Given the description of an element on the screen output the (x, y) to click on. 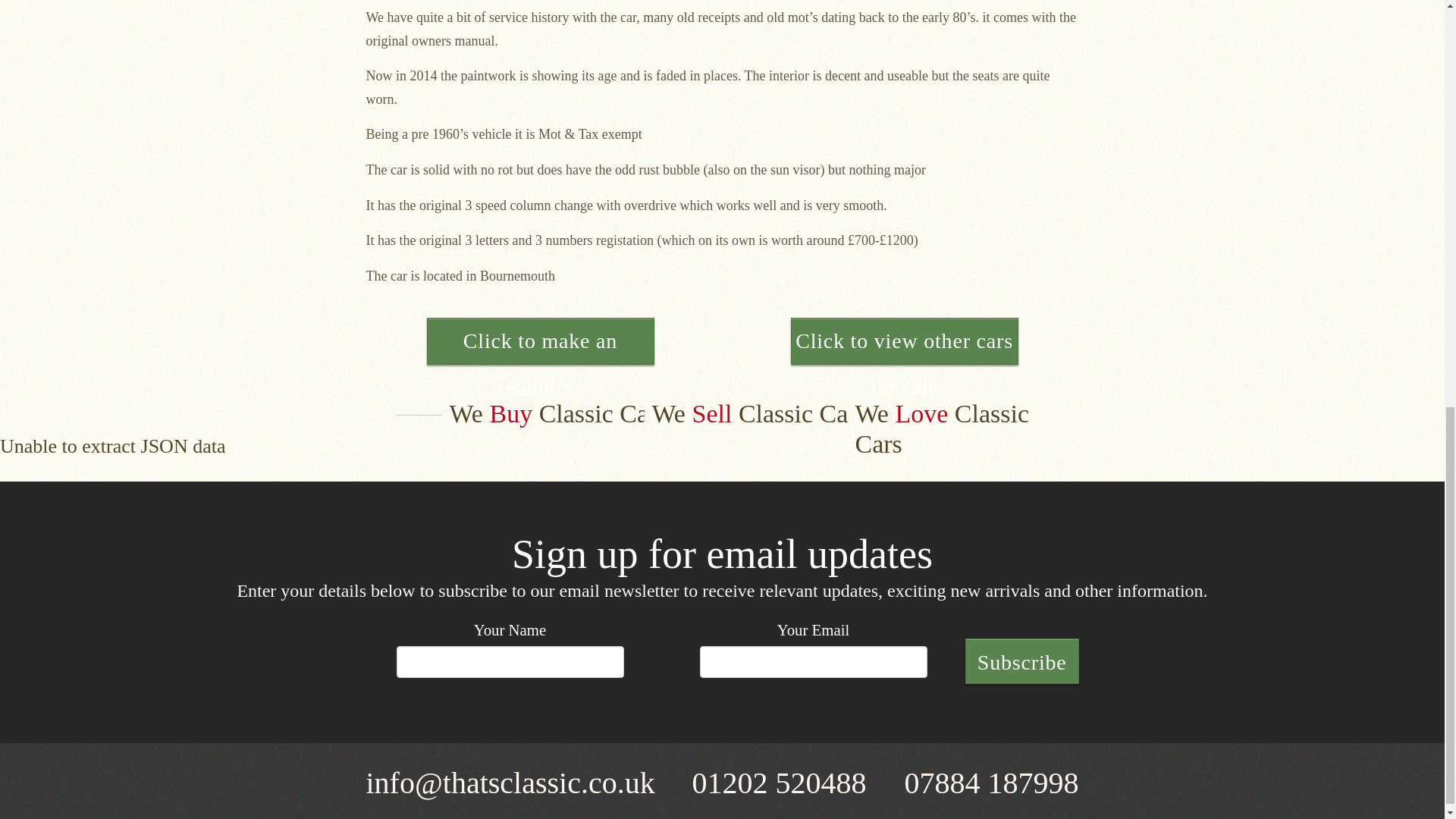
Click to view other cars for sale (903, 340)
Click to make an enquiry (539, 340)
Subscribe (1021, 660)
Subscribe (1021, 660)
